Given the description of an element on the screen output the (x, y) to click on. 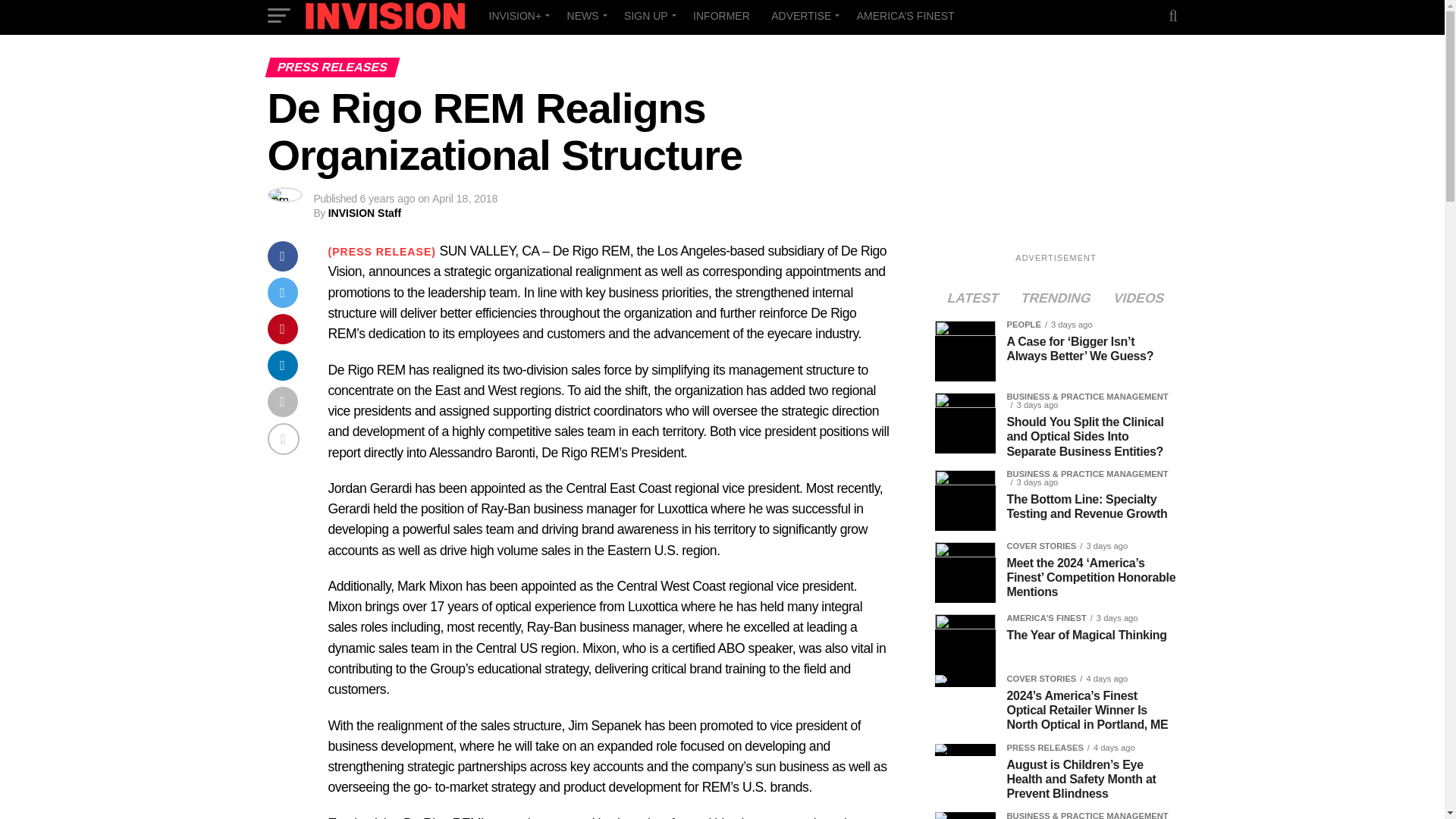
Posts by INVISION Staff (365, 213)
